Given the description of an element on the screen output the (x, y) to click on. 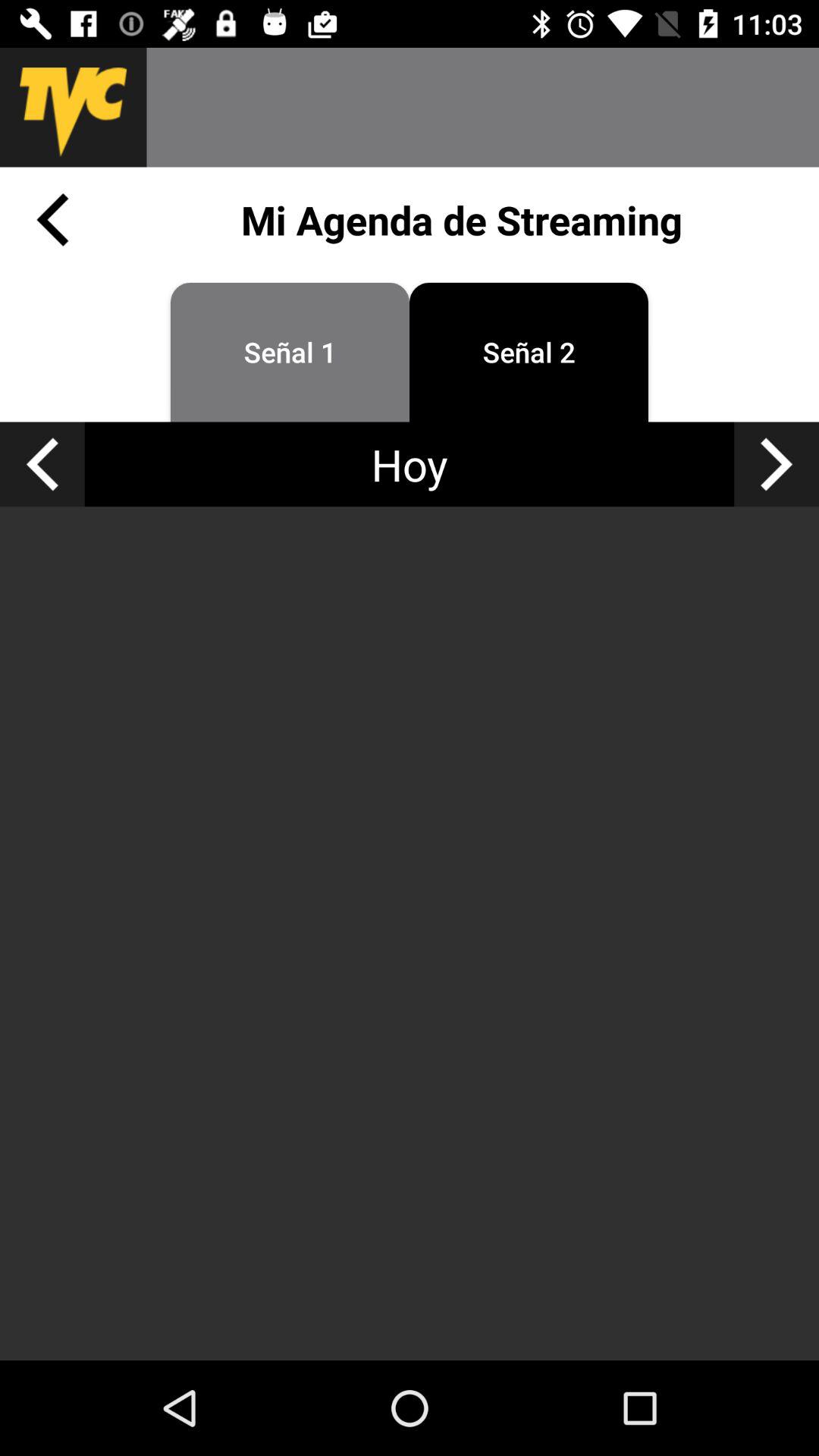
select item below mi agenda de item (776, 464)
